Given the description of an element on the screen output the (x, y) to click on. 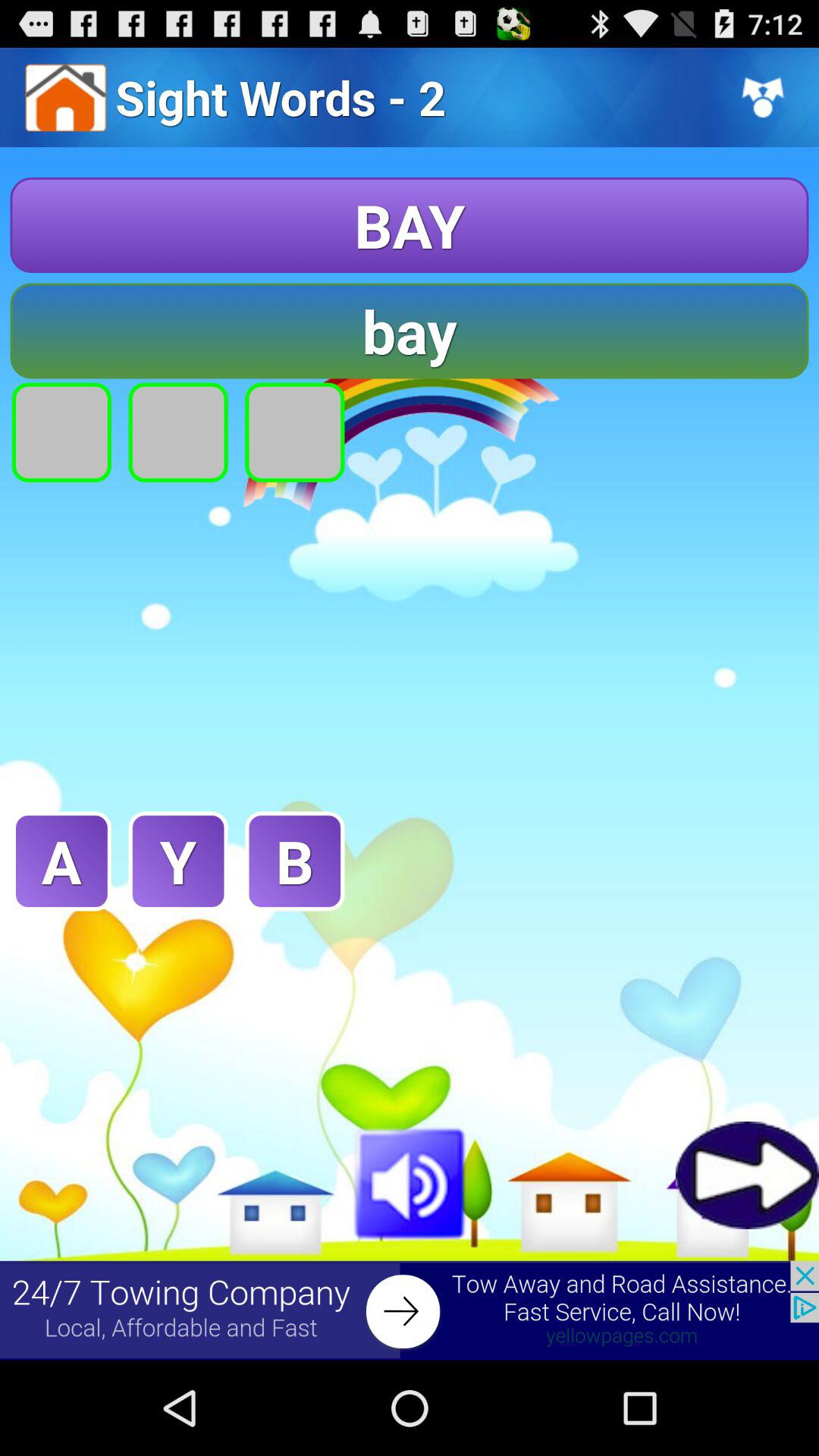
go next (747, 1175)
